Given the description of an element on the screen output the (x, y) to click on. 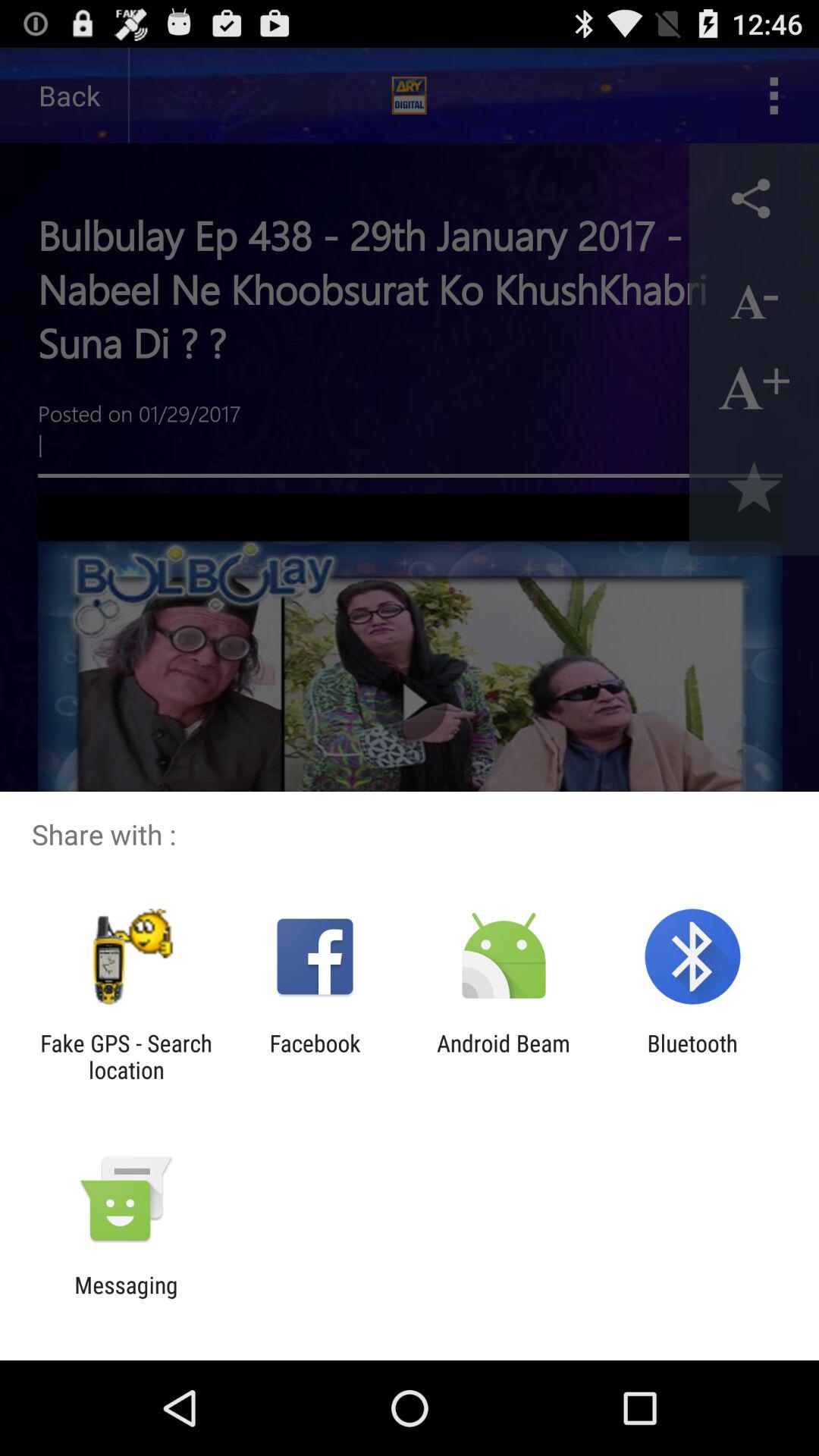
swipe to the fake gps search icon (125, 1056)
